Given the description of an element on the screen output the (x, y) to click on. 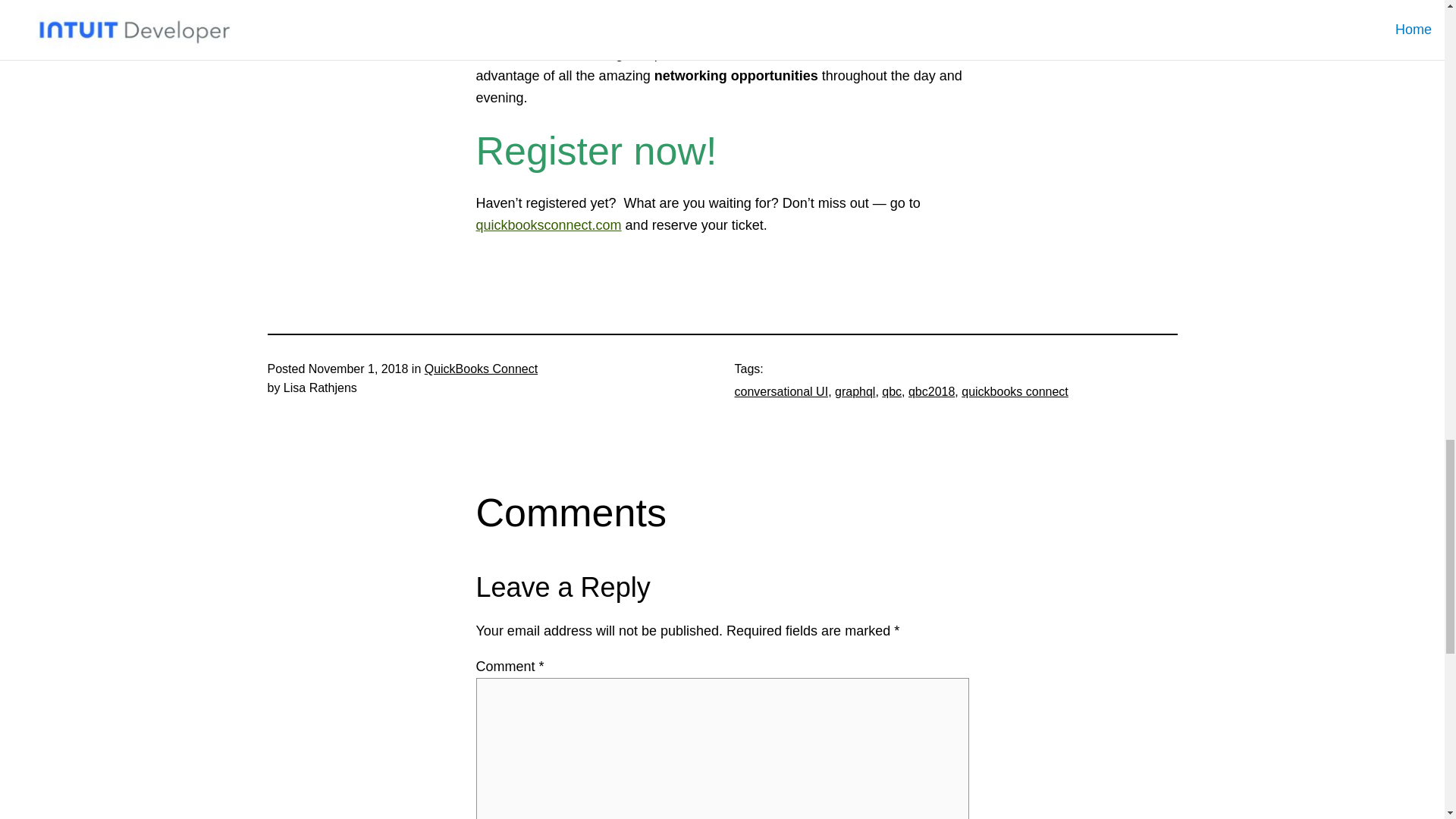
qbc (891, 391)
quickbooks connect (1014, 391)
quickbooksconnect.com (548, 224)
qbc2018 (931, 391)
conversational UI (780, 391)
QuickBooks Connect (481, 368)
graphql (854, 391)
